Given the description of an element on the screen output the (x, y) to click on. 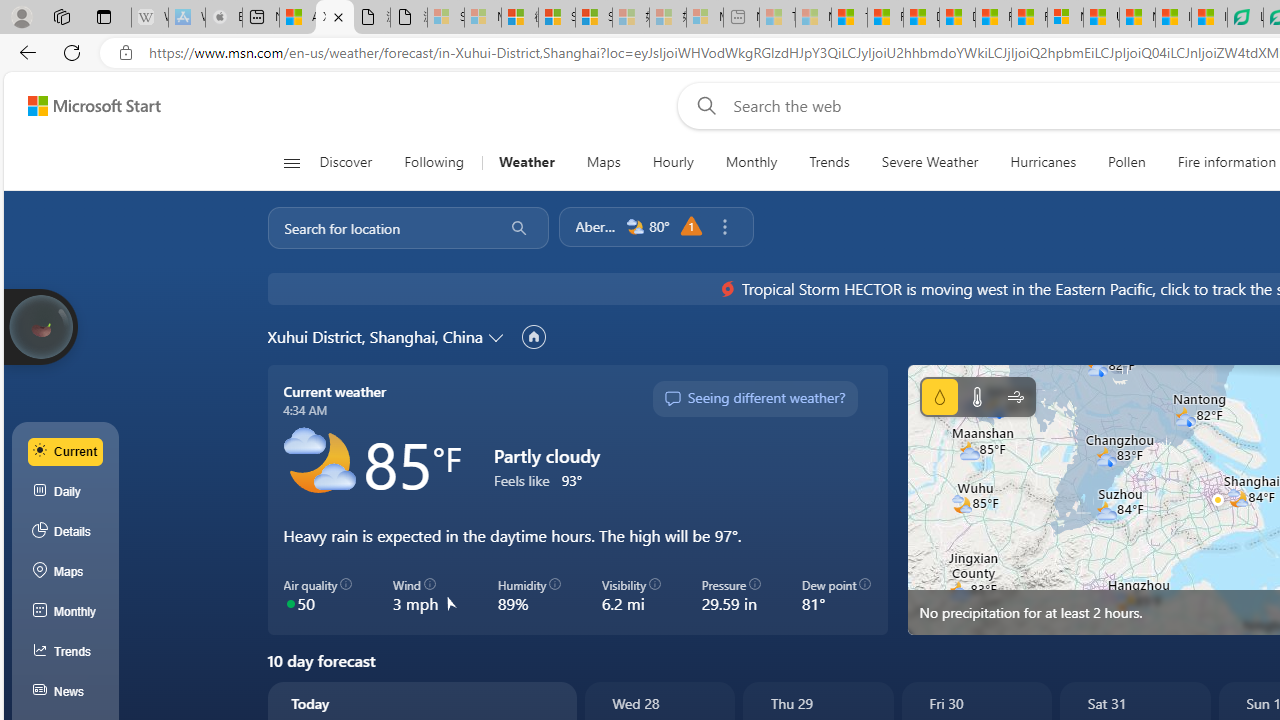
Daily (65, 492)
Hourly (672, 162)
Temperature (976, 396)
Monthly (751, 162)
Remove location (724, 227)
Microsoft account | Account Checkup - Sleeping (705, 17)
Weather (526, 162)
Severe Weather (929, 162)
Humidity 89% (528, 595)
